Given the description of an element on the screen output the (x, y) to click on. 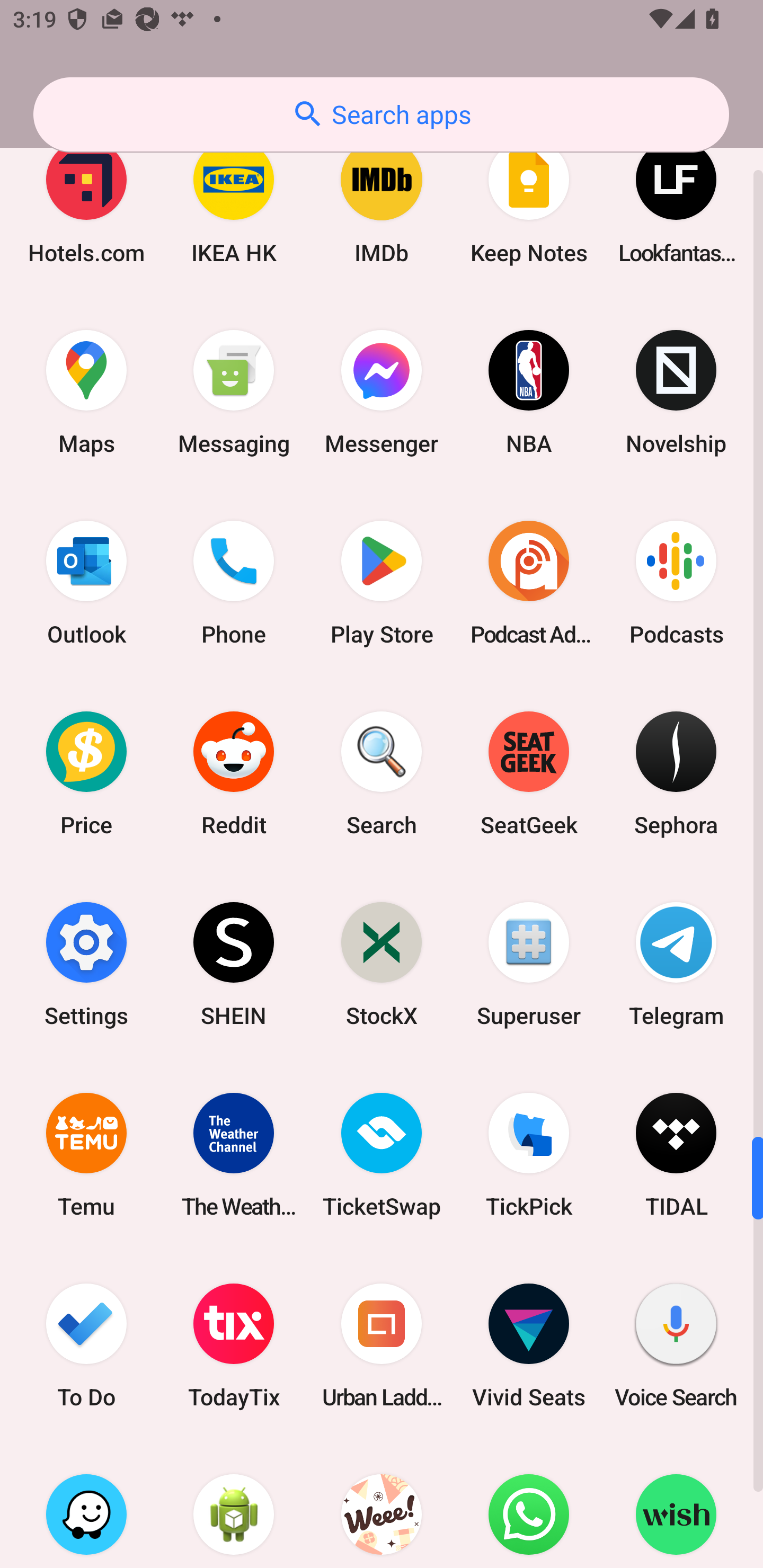
To Do (86, 1344)
